Given the description of an element on the screen output the (x, y) to click on. 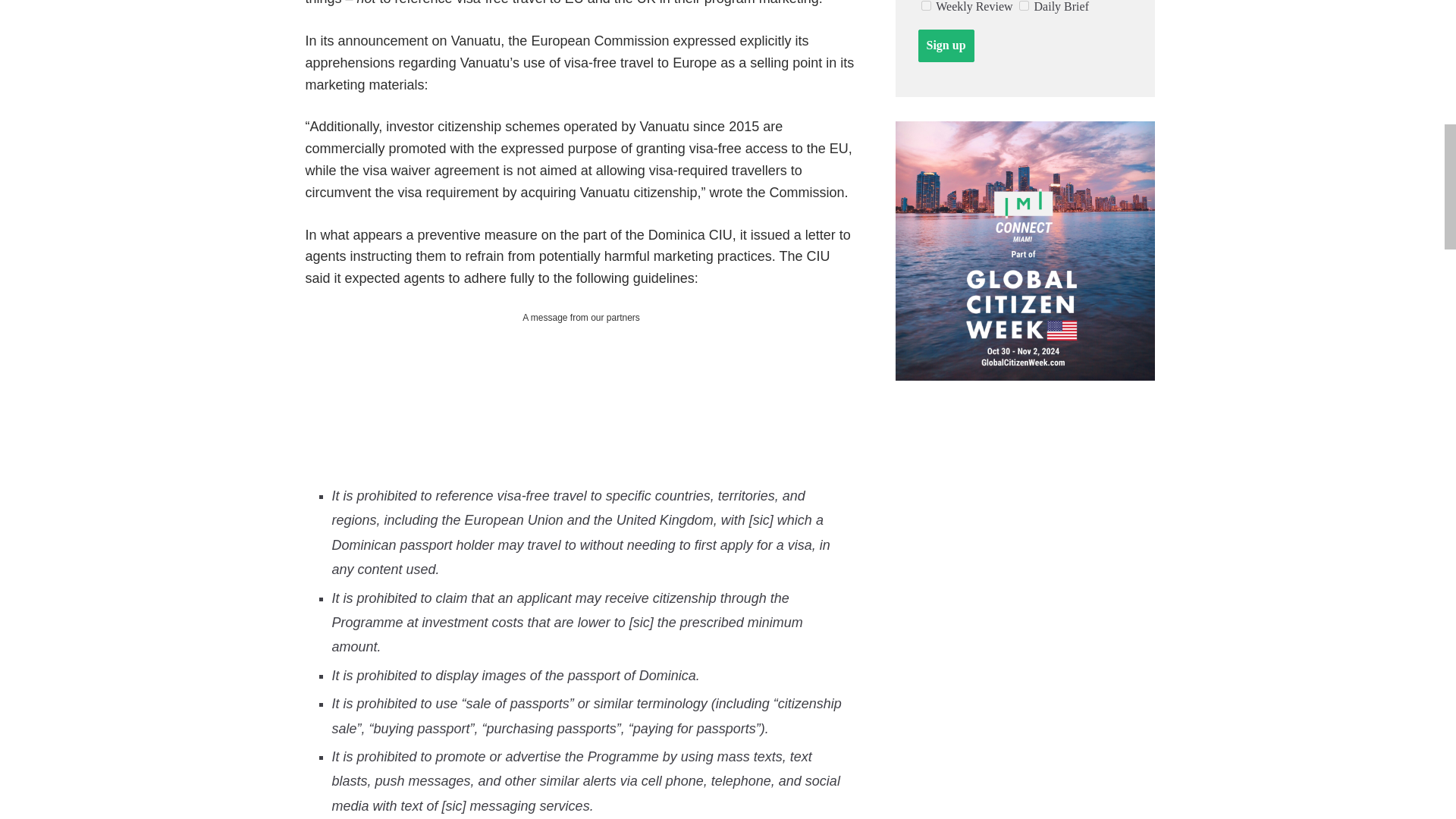
Sign up (945, 45)
2ad59d2504 (1024, 5)
24b73734dd (925, 5)
